Given the description of an element on the screen output the (x, y) to click on. 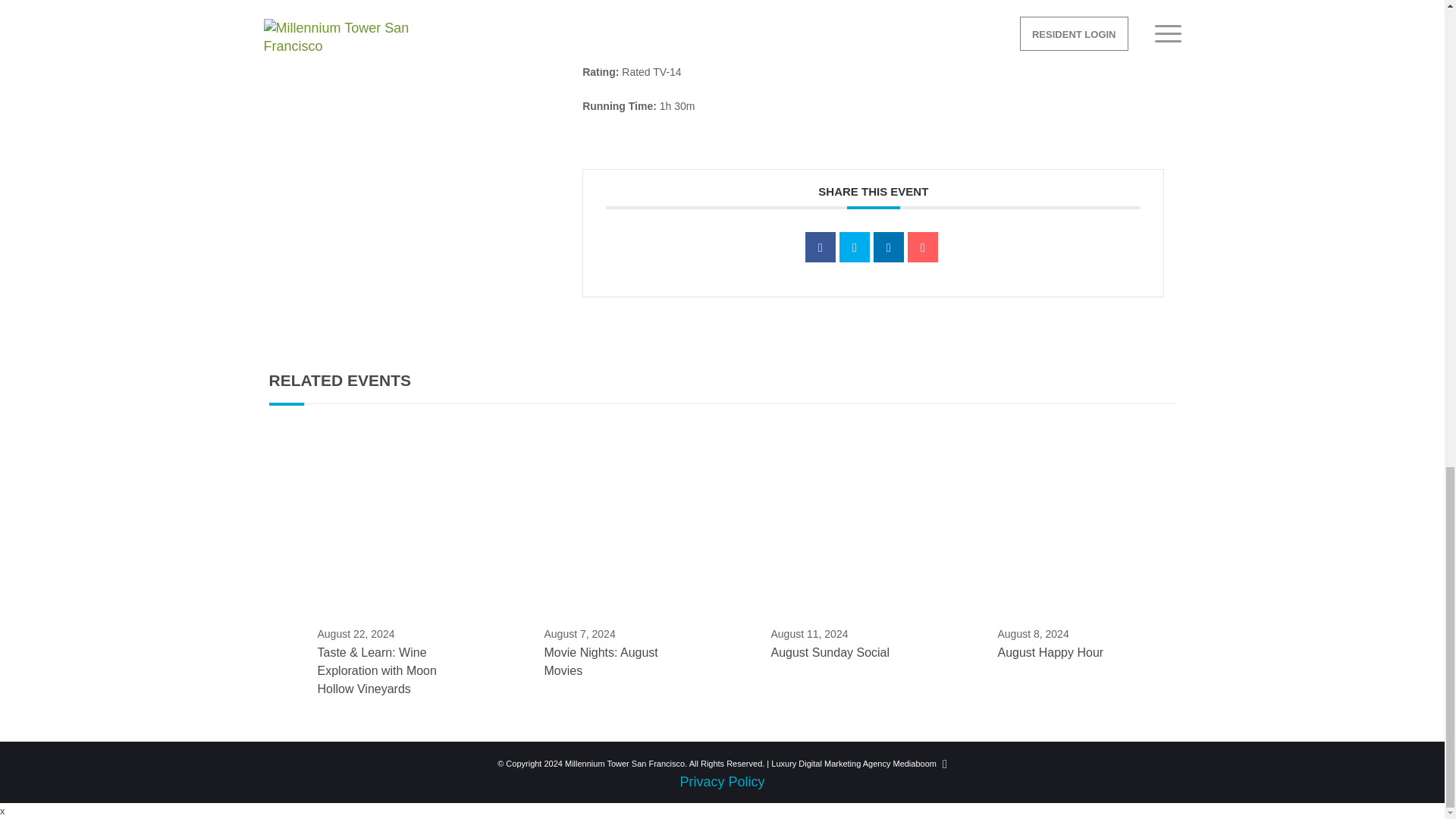
Email (922, 246)
August Happy Hour (1050, 652)
Movie Trailer (621, 35)
Linkedin (888, 246)
Share on Facebook (820, 246)
Privacy Policy (721, 781)
August Sunday Social (829, 652)
Movie Nights: August Movies (601, 661)
Luxury Digital Marketing Agency Mediaboom (853, 763)
Tweet (854, 246)
